Given the description of an element on the screen output the (x, y) to click on. 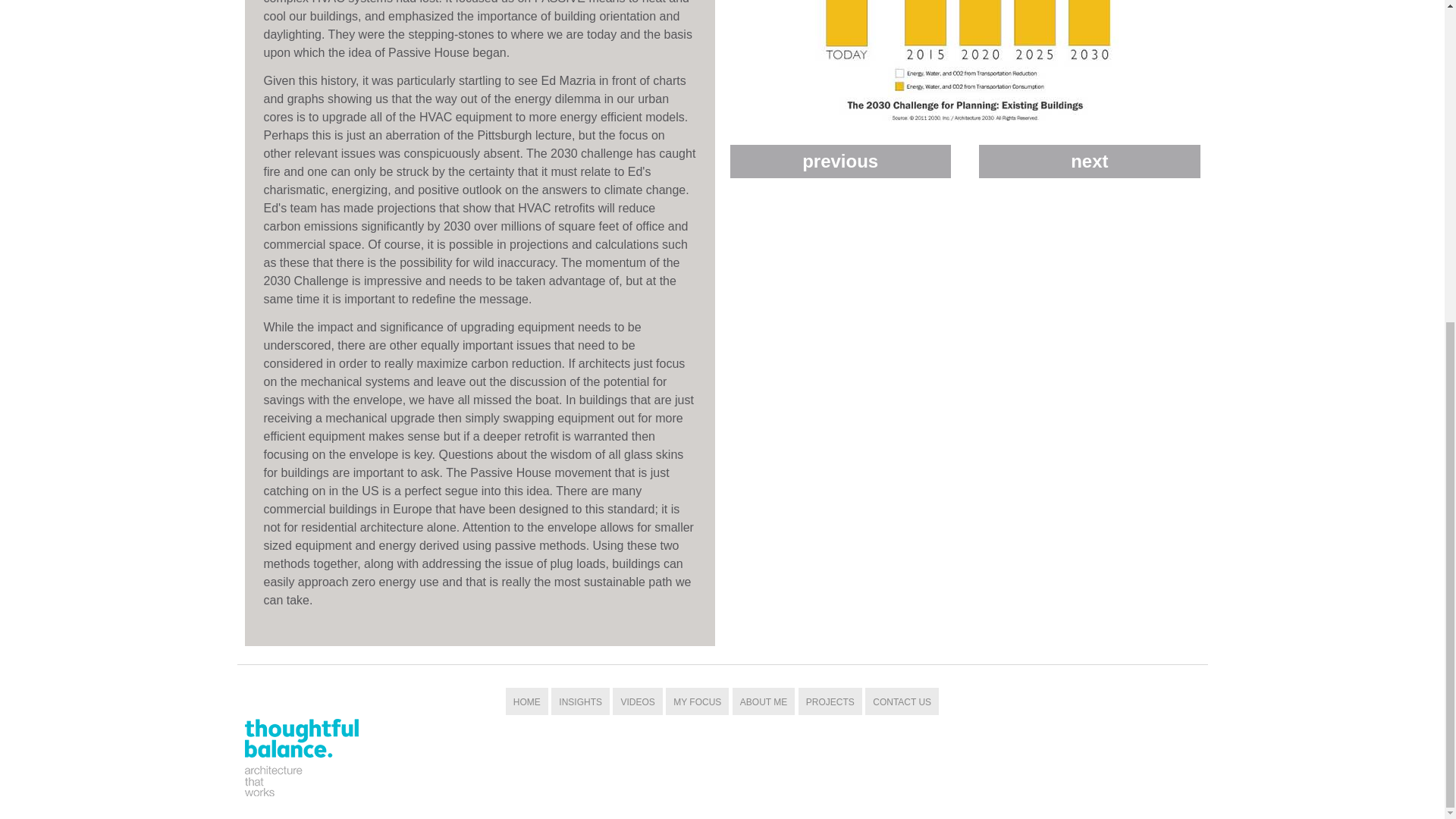
MY FOCUS (696, 701)
CONTACT US (901, 701)
VIDEOS (636, 701)
next (1088, 161)
PROJECTS (830, 701)
ABOUT ME (763, 701)
HOME (526, 701)
INSIGHTS (580, 701)
previous (839, 161)
